Given the description of an element on the screen output the (x, y) to click on. 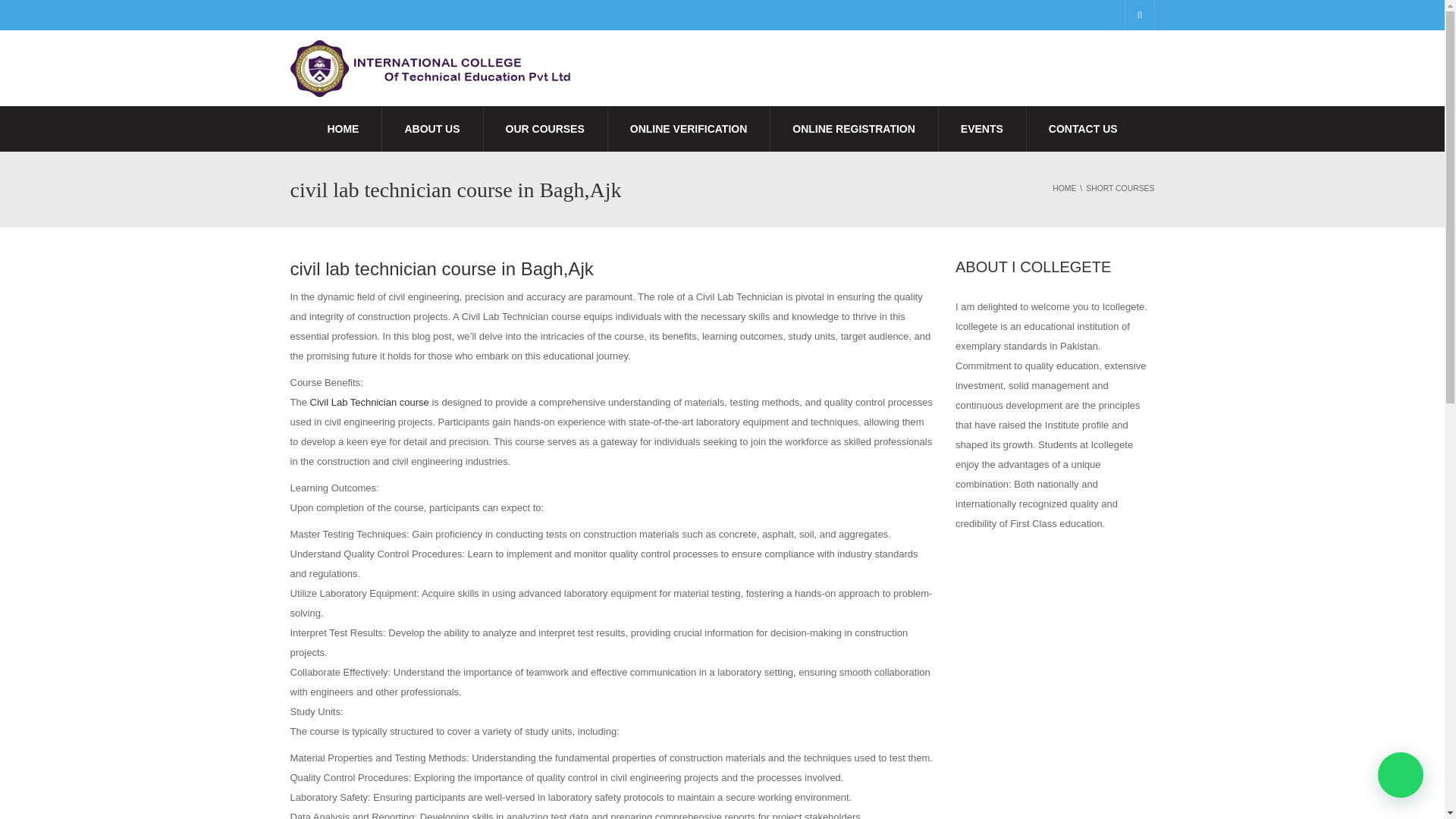
HOME (342, 128)
SHORT COURSES (1120, 188)
civil lab technician course in Bagh,Ajk - Icollegete (430, 67)
EVENTS (981, 128)
HOME (1063, 188)
OUR COURSES (545, 128)
ONLINE VERIFICATION (688, 128)
CONTACT US (1083, 128)
ONLINE REGISTRATION (853, 128)
Civil Lab Technician course (368, 401)
